Given the description of an element on the screen output the (x, y) to click on. 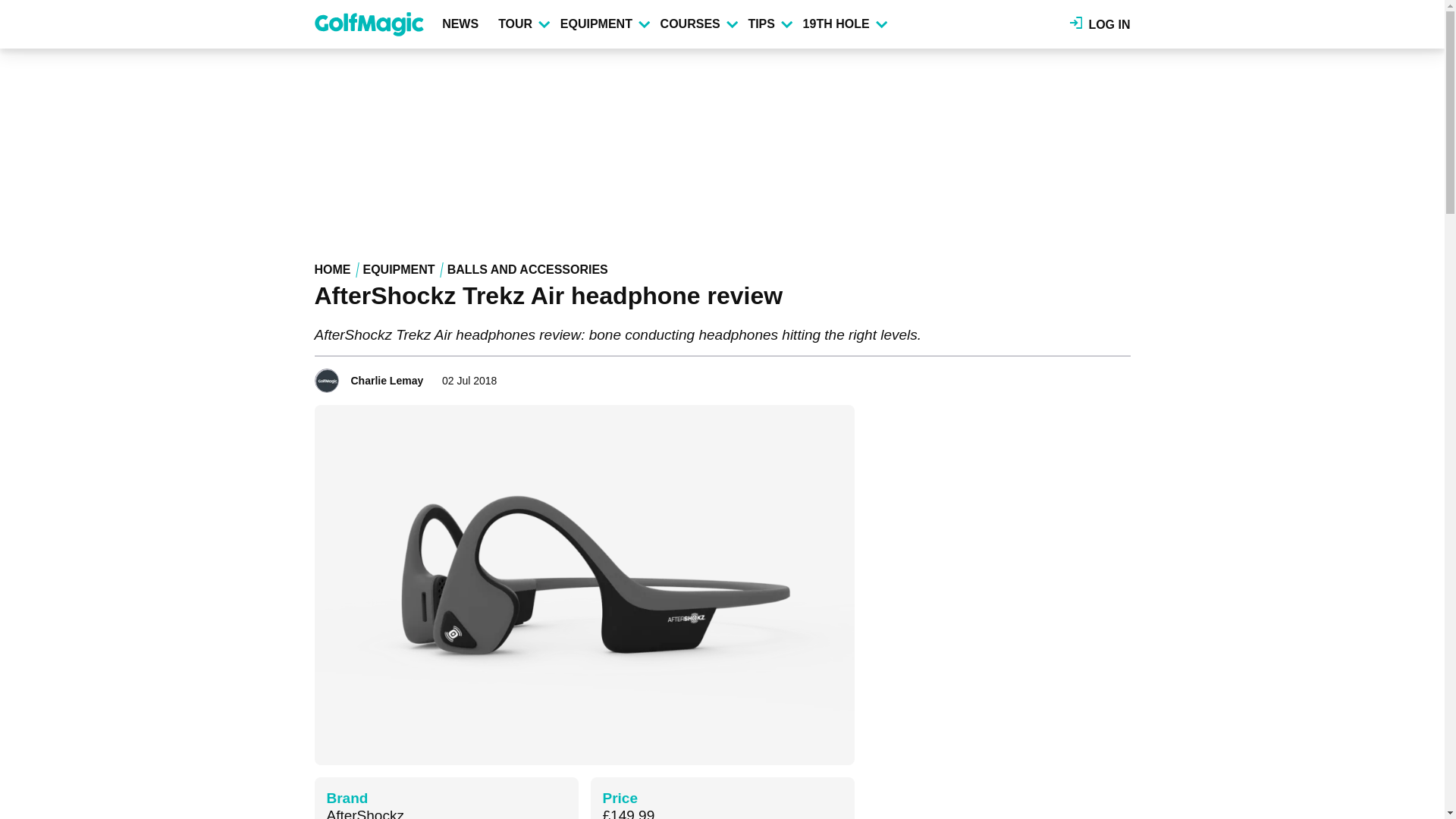
NEWS (463, 24)
Share to Email (1119, 376)
LOG IN (1100, 24)
EQUIPMENT (603, 24)
TOUR (523, 24)
Share to Facebook (1055, 376)
Share to X (1076, 376)
Share to Linkedin (1097, 376)
